Given the description of an element on the screen output the (x, y) to click on. 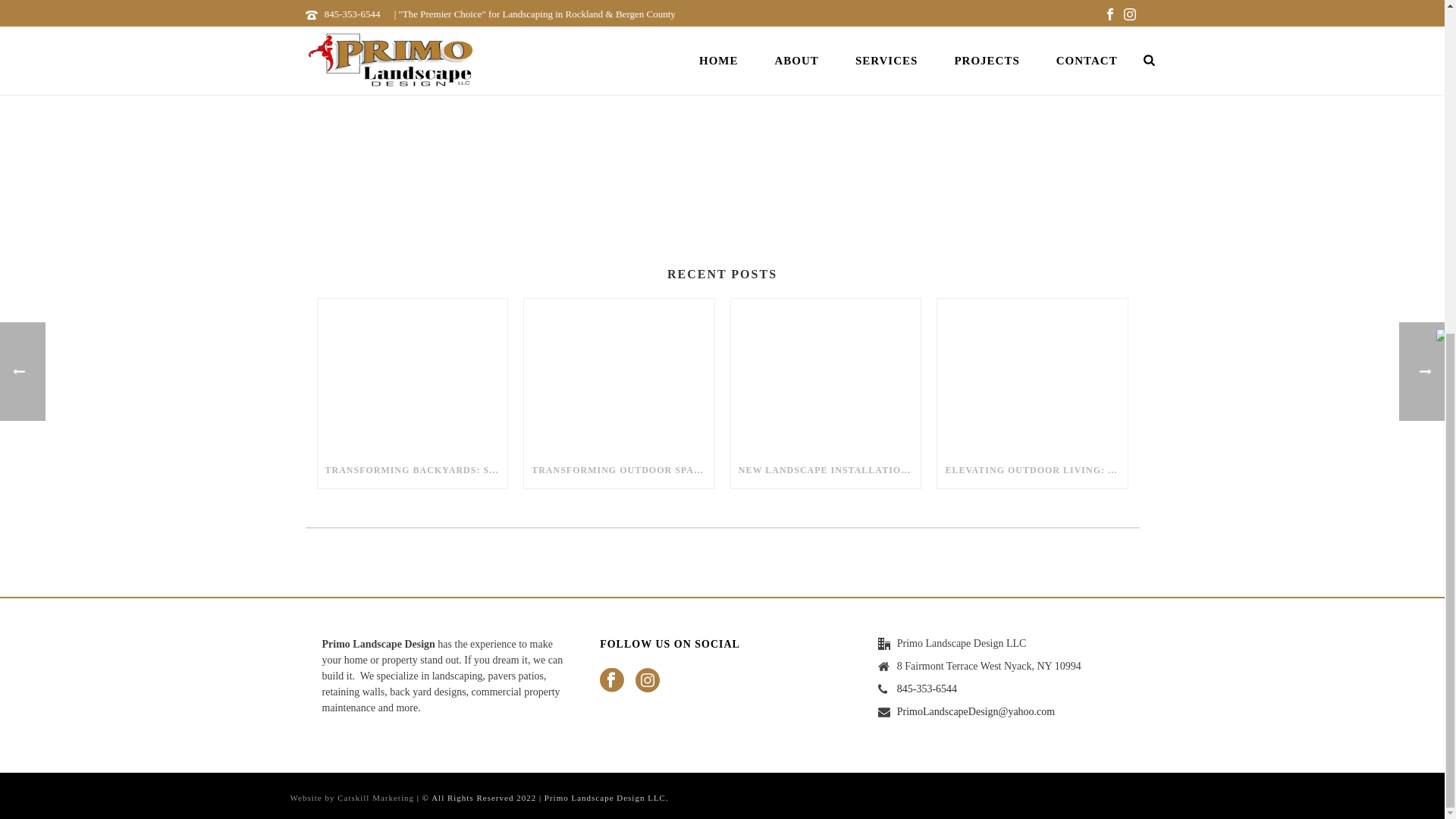
New Landscape Installation in Upper Nyack, NY (825, 374)
YouTube video player (607, 94)
Facebook facebook (611, 681)
Facebook instagram (646, 681)
